Given the description of an element on the screen output the (x, y) to click on. 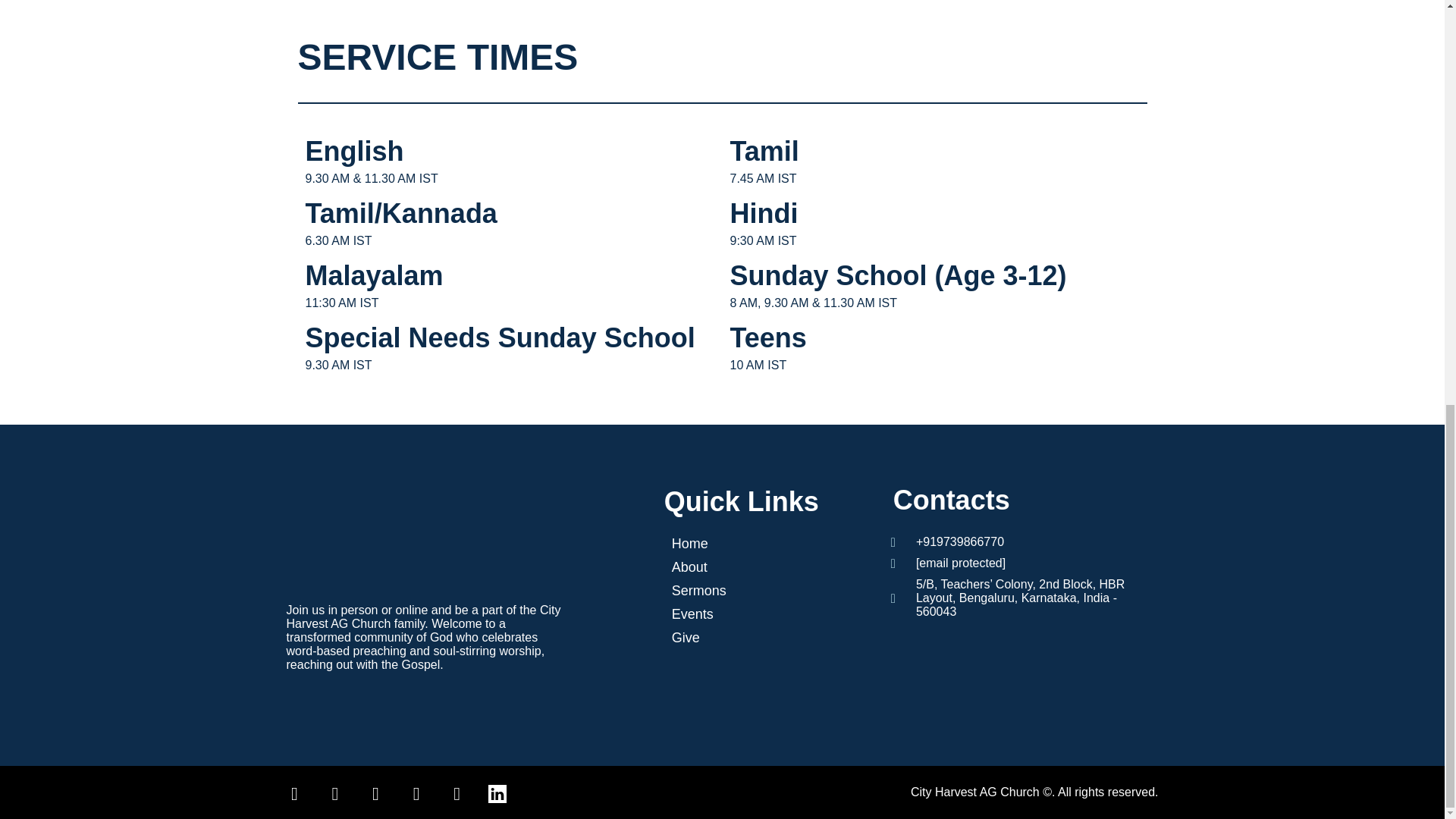
Special Needs Sunday School (499, 337)
About (755, 567)
Teens (767, 337)
Home (755, 544)
Sermons (755, 590)
